Given the description of an element on the screen output the (x, y) to click on. 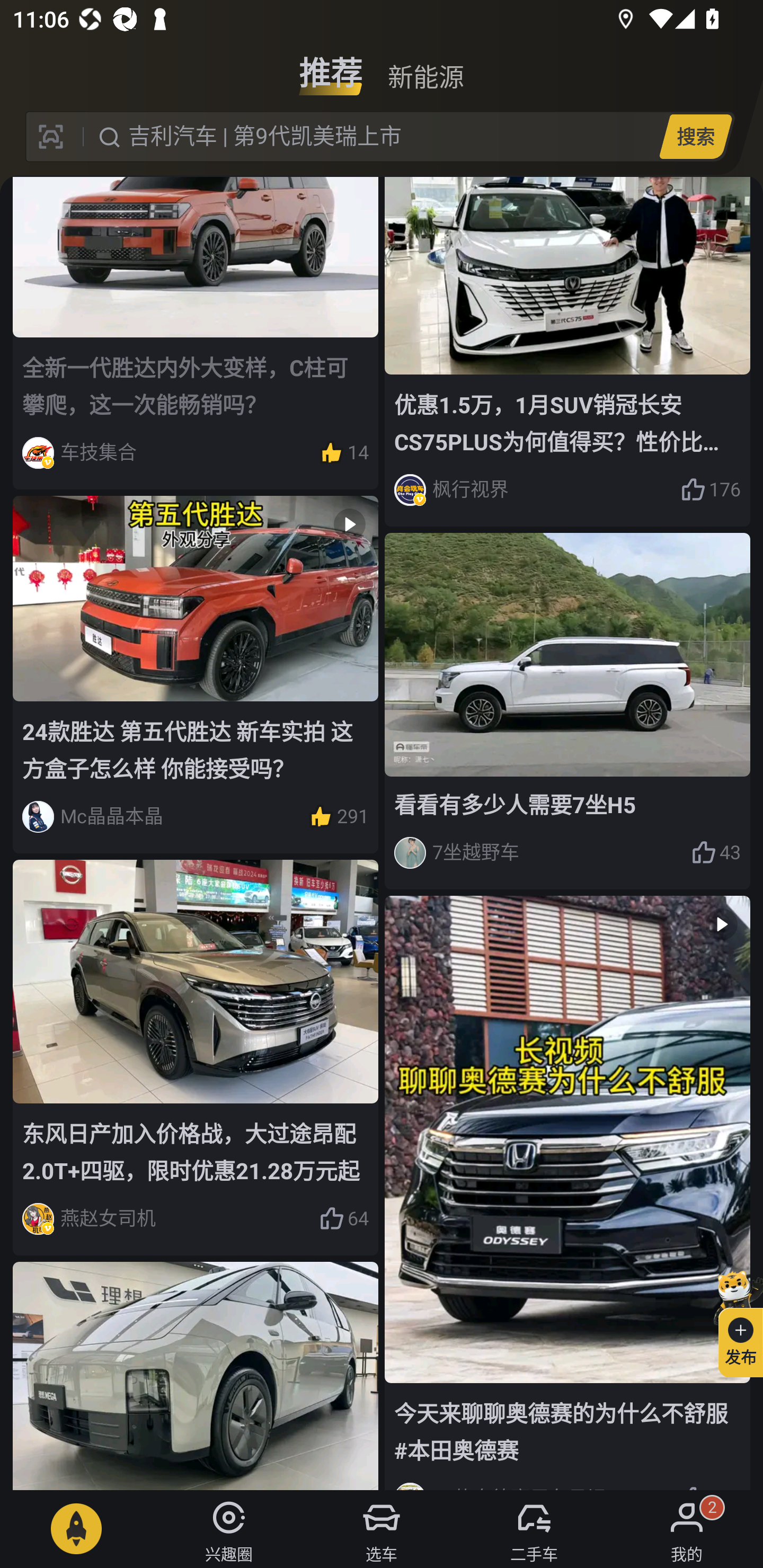
推荐 (330, 65)
新能源 (425, 65)
搜索 (695, 136)
全新一代胜达内外大变样，C柱可攀爬，这一次能畅销吗？ 车技集合 14 (195, 333)
优惠1.5万，1月SUV销冠长安CS75PLUS为何值得买？性价比是亮点！ 枫行视界 176 (567, 351)
14 (343, 452)
176 (710, 489)
 24款胜达 第五代胜达 新车实拍 这方盒子怎么样 你能接受吗？ Mc晶晶本晶 291 (195, 673)
看看有多少人需要7坐H5 7坐越野车 43 (567, 711)
291 (338, 816)
43 (715, 852)
东风日产加入价格战，大过途昂配2.0T+四驱，限时优惠21.28万元起 燕赵女司机 64 (195, 1057)
 今天来聊聊奥德赛的为什么不舒服#本田奥德赛 24款奥德赛用车日记 196 (567, 1192)
64 (343, 1218)
发布 (732, 1321)
 兴趣圈 (228, 1528)
 选车 (381, 1528)
 二手车 (533, 1528)
 我的 (686, 1528)
